Given the description of an element on the screen output the (x, y) to click on. 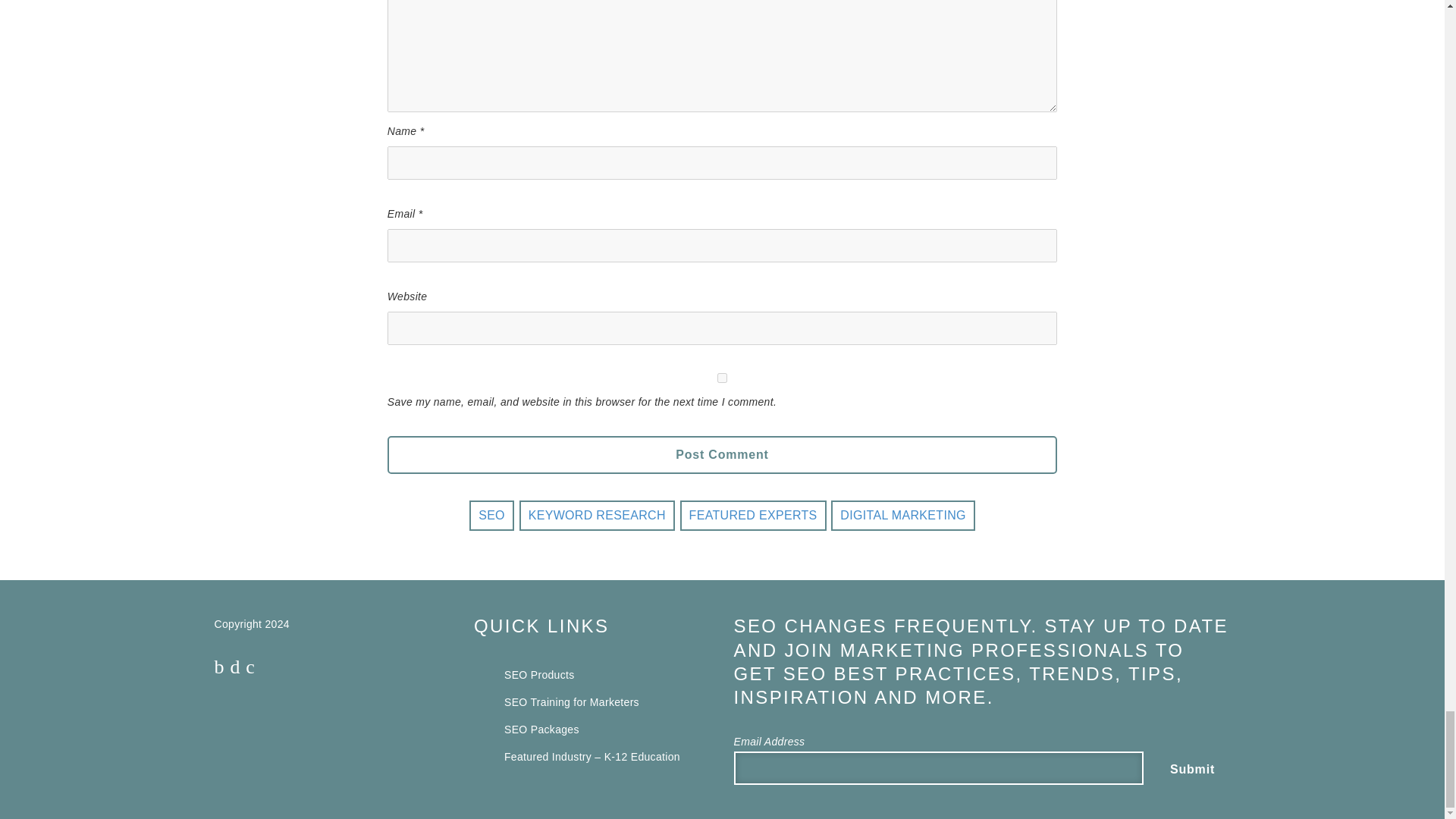
SEO (490, 515)
Post Comment (722, 454)
yes (722, 378)
KEYWORD RESEARCH (597, 515)
Post Comment (722, 454)
Submit (1192, 769)
FEATURED EXPERTS (753, 515)
DIGITAL MARKETING (902, 515)
